Given the description of an element on the screen output the (x, y) to click on. 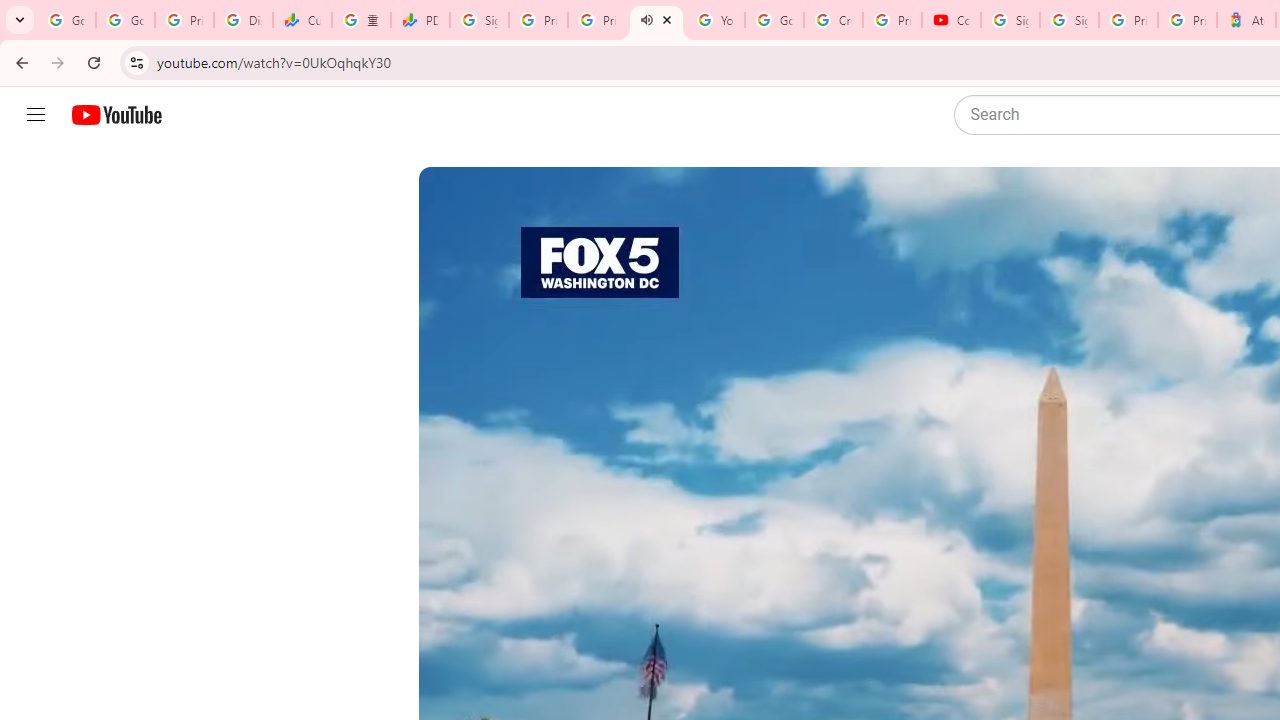
PDD Holdings Inc - ADR (PDD) Price & News - Google Finance (420, 20)
Currencies - Google Finance (301, 20)
YouTube Home (116, 115)
Guide (35, 115)
Create your Google Account (832, 20)
Content Creator Programs & Opportunities - YouTube Creators (950, 20)
YouTube (715, 20)
